Given the description of an element on the screen output the (x, y) to click on. 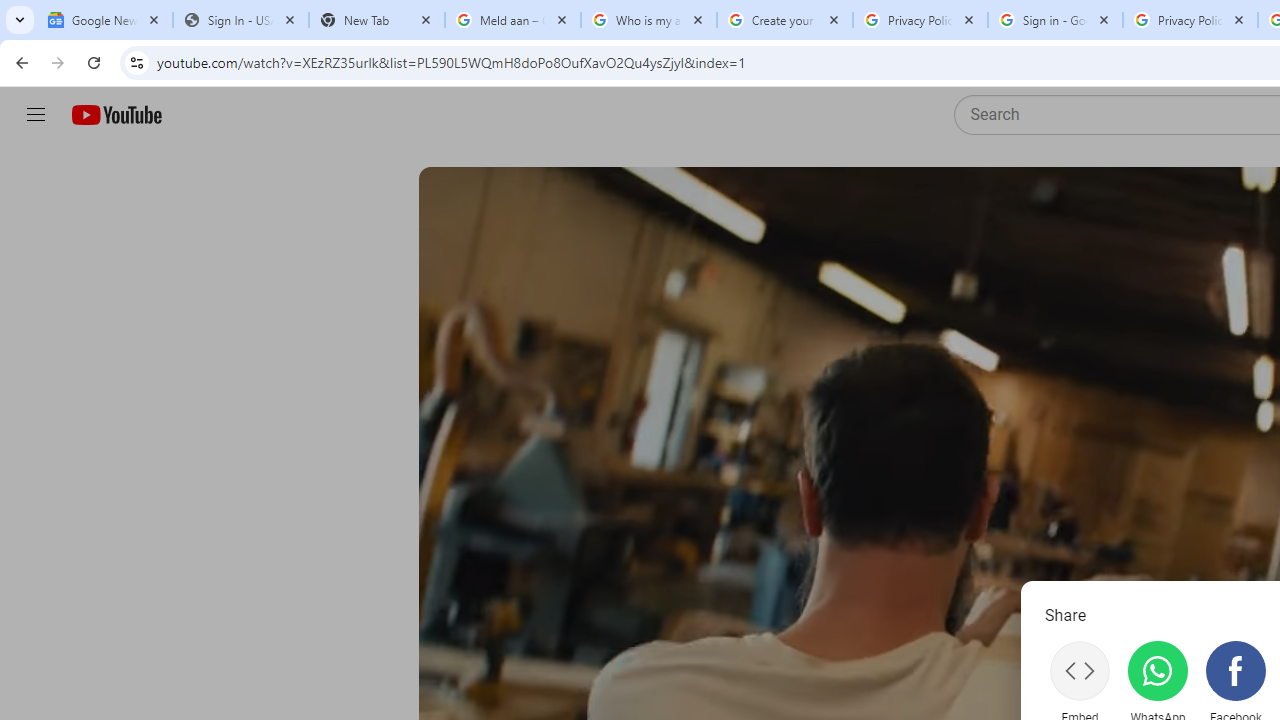
Sign In - USA TODAY (240, 20)
Create your Google Account (784, 20)
Guide (35, 115)
Who is my administrator? - Google Account Help (648, 20)
Sign in - Google Accounts (1055, 20)
Google News (104, 20)
